Given the description of an element on the screen output the (x, y) to click on. 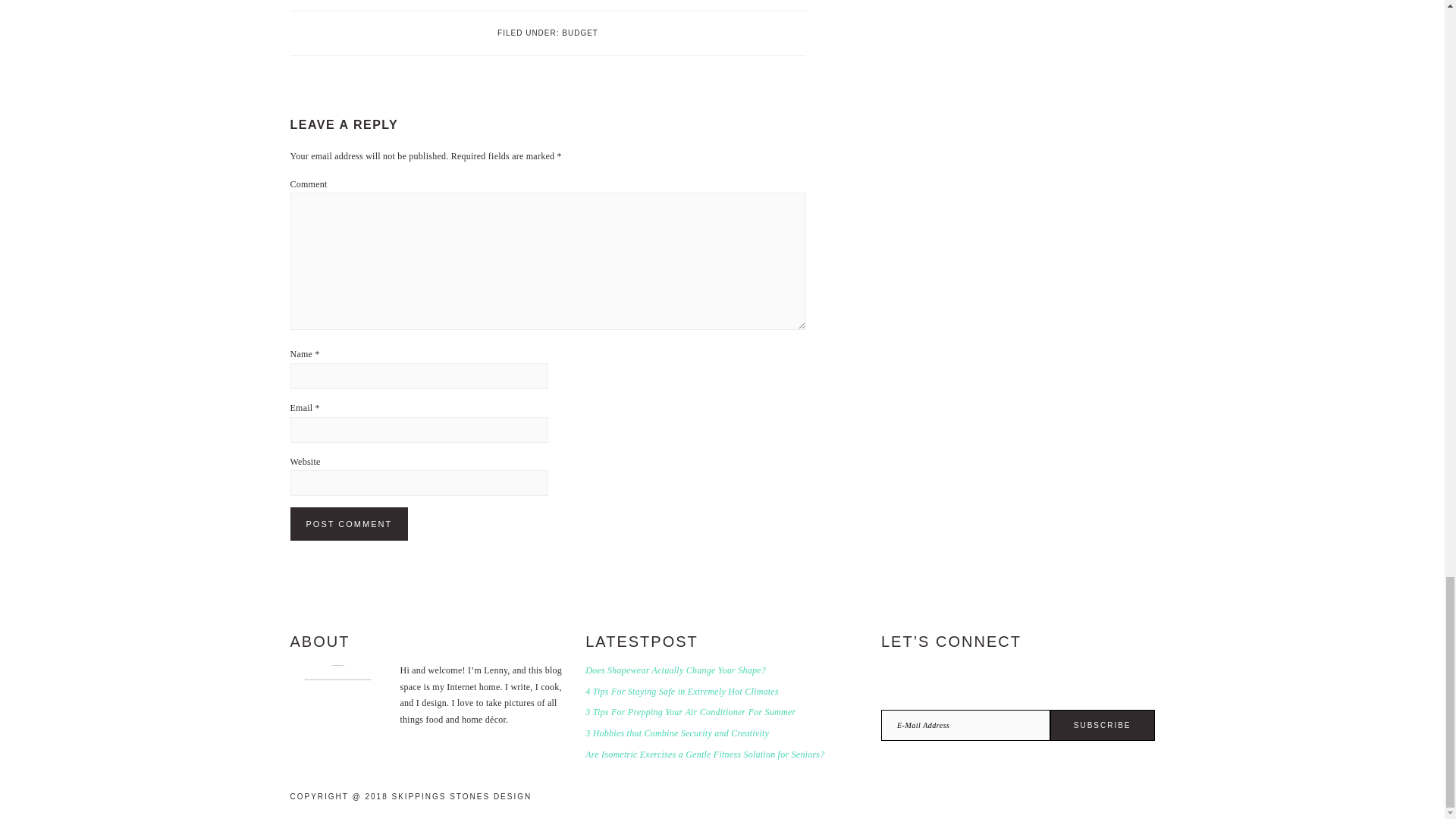
Post Comment (348, 523)
SUBSCRIBE (1101, 725)
4 Tips For Staying Safe in Extremely Hot Climates (681, 691)
3 Hobbies that Combine Security and Creativity (676, 733)
Does Shapewear Actually Change Your Shape? (675, 670)
3 Tips For Prepping Your Air Conditioner For Summer (689, 711)
Post Comment (348, 523)
BUDGET (580, 32)
